Given the description of an element on the screen output the (x, y) to click on. 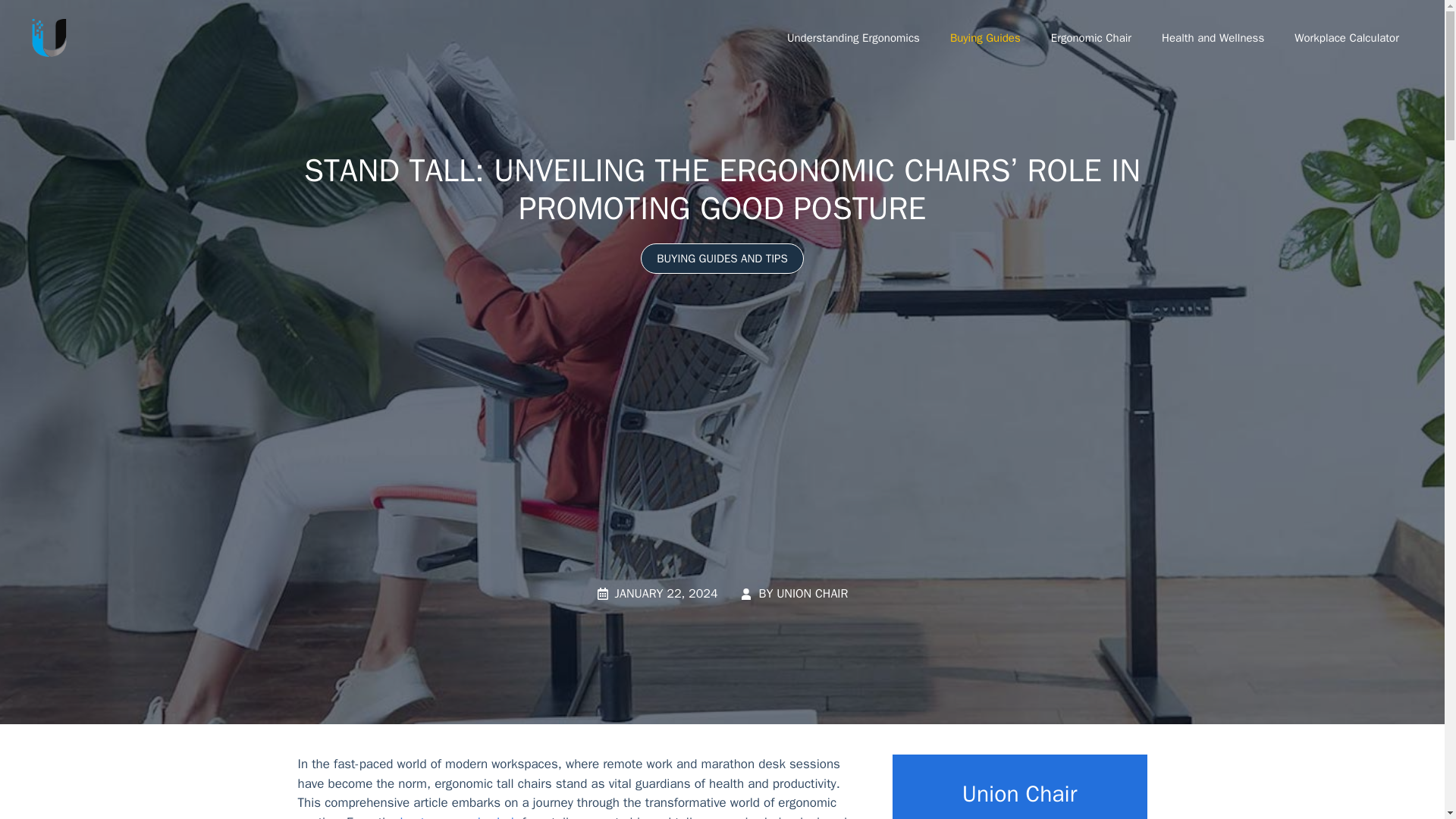
best ergonomic chair (459, 816)
Ergonomic Chair (1091, 37)
UNION CHAIR (811, 593)
BUYING GUIDES AND TIPS (721, 258)
Workplace Calculator (1346, 37)
Understanding Ergonomics (852, 37)
Buying Guides (984, 37)
Health and Wellness (1213, 37)
best ergonomic chair (459, 816)
